Given the description of an element on the screen output the (x, y) to click on. 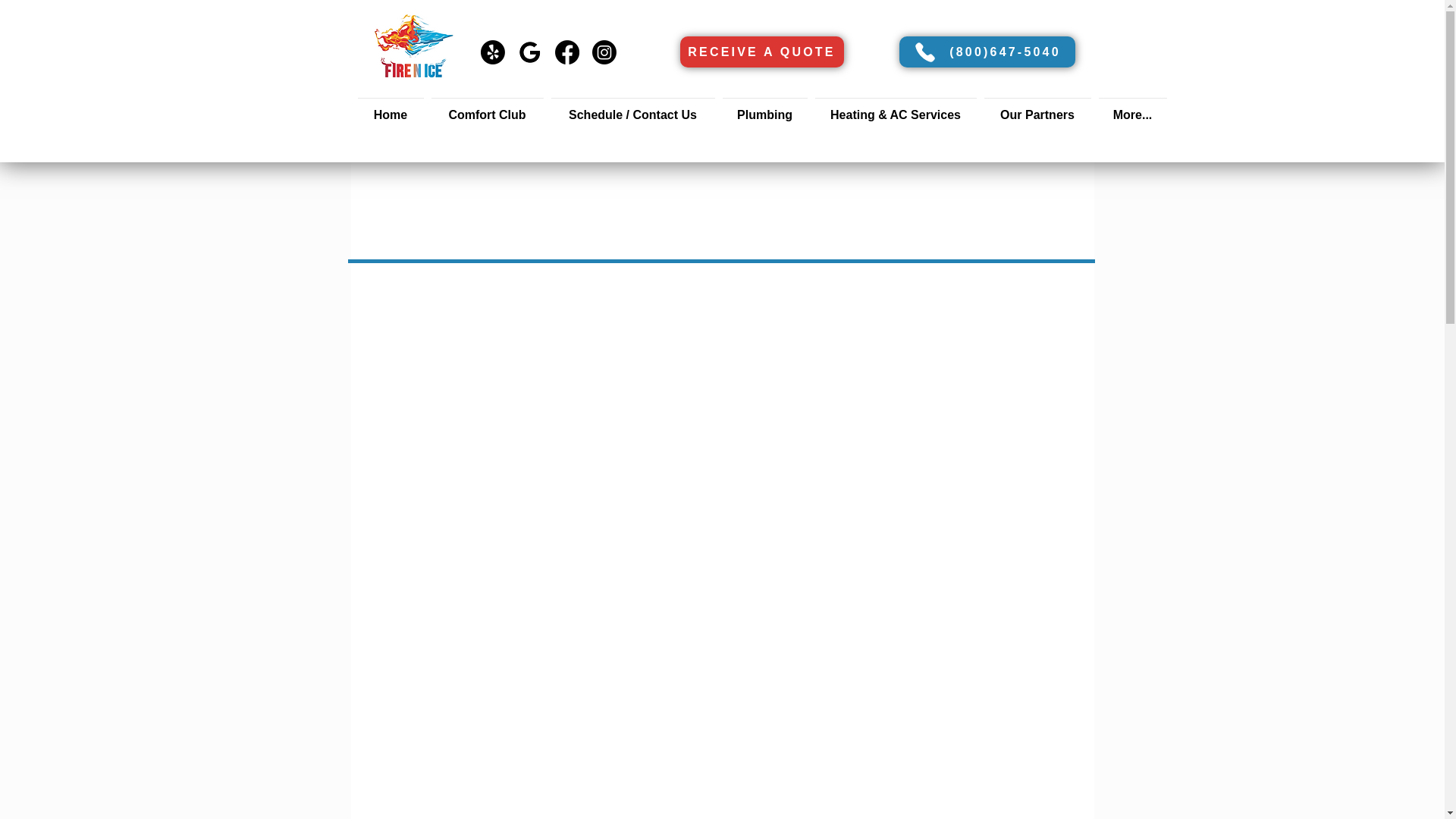
Home (389, 107)
Plumbing (764, 107)
Our Partners (1036, 107)
RECEIVE A QUOTE (761, 51)
Comfort Club (487, 107)
